Given the description of an element on the screen output the (x, y) to click on. 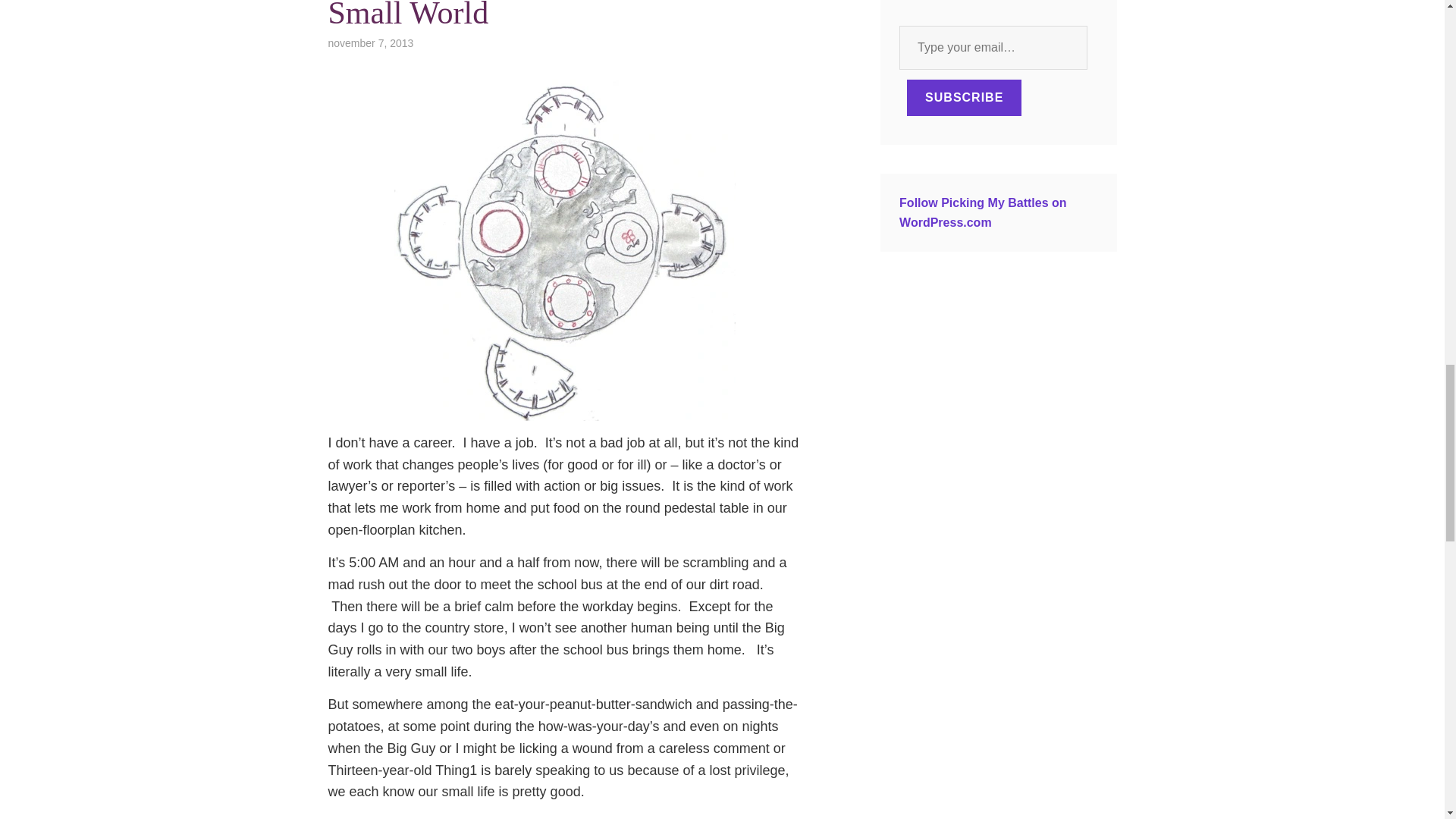
november 7, 2013 (370, 42)
Please fill in this field. (993, 47)
Follow Picking My Battles on WordPress.com (982, 212)
SUBSCRIBE (964, 97)
kitchen table.jpg (564, 249)
